Given the description of an element on the screen output the (x, y) to click on. 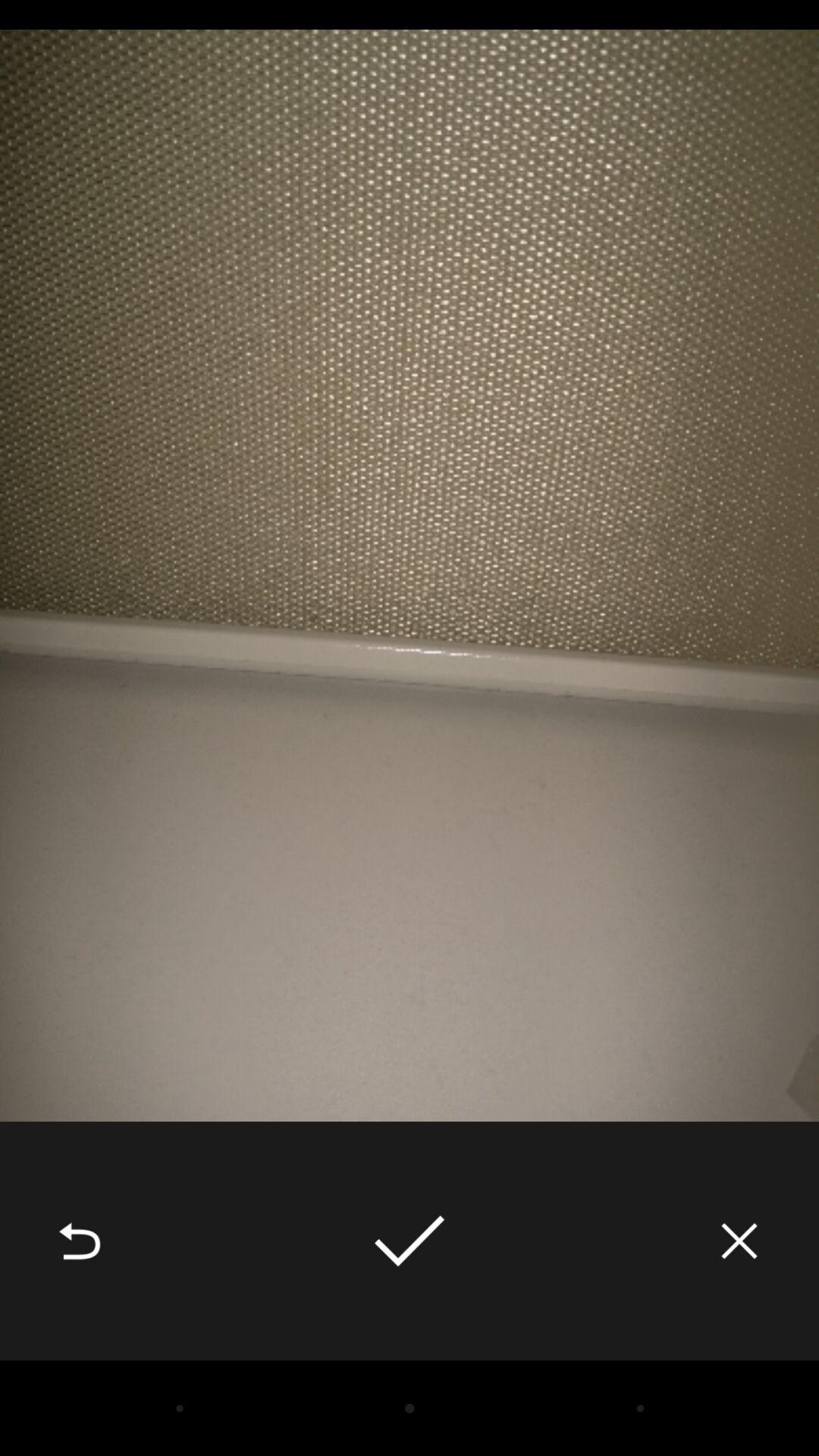
tap icon at the bottom left corner (79, 1240)
